Given the description of an element on the screen output the (x, y) to click on. 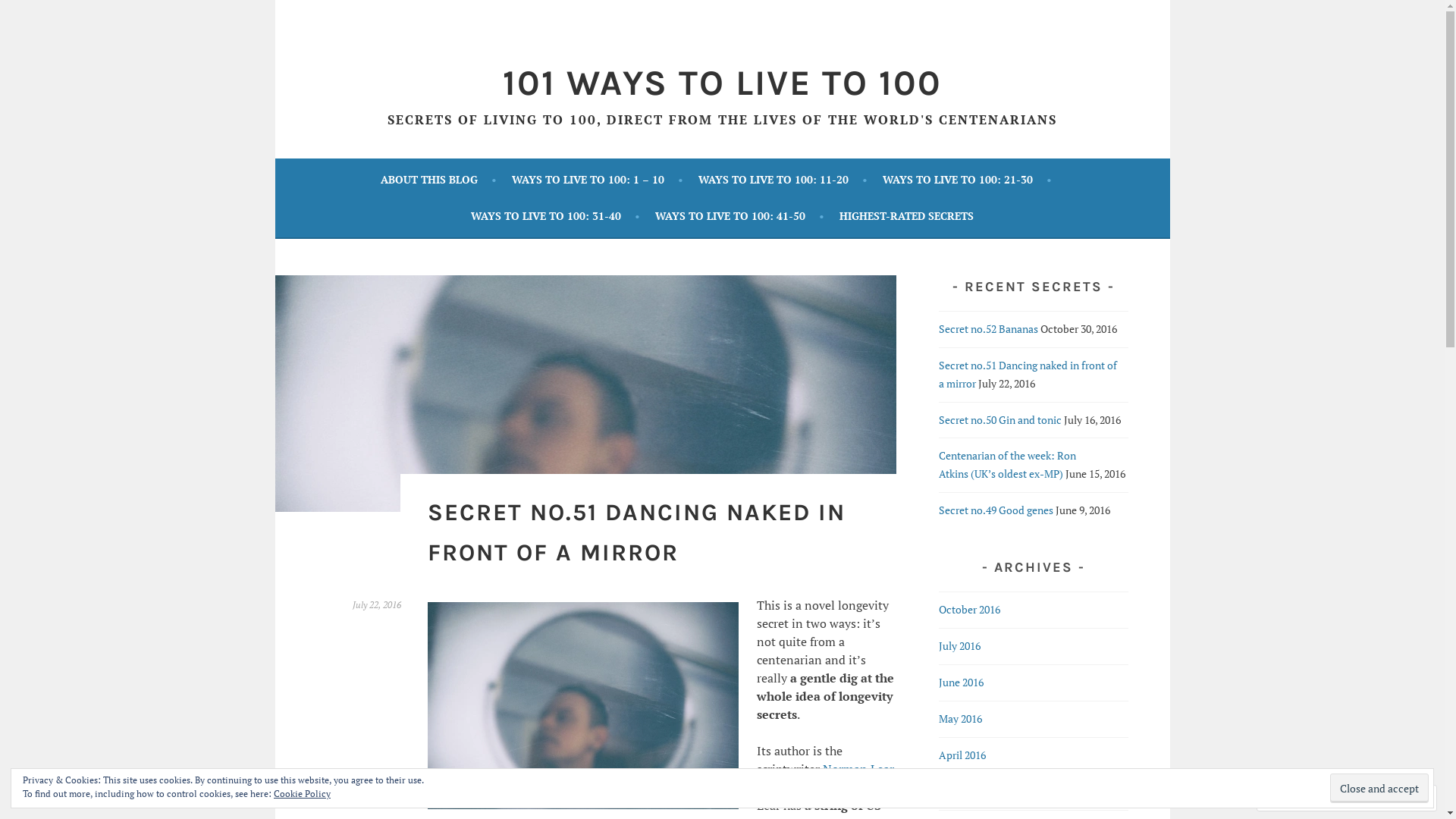
WAYS TO LIVE TO 100: 31-40 Element type: text (555, 216)
WAYS TO LIVE TO 100: 21-30 Element type: text (966, 179)
Secret no.49 Good genes Element type: text (995, 509)
101 WAYS TO LIVE TO 100 Element type: text (721, 82)
July 22, 2016 Element type: text (375, 604)
July 2016 Element type: text (959, 645)
Secret no.51 Dancing naked in front of a mirror Element type: text (1027, 373)
HIGHEST-RATED SECRETS Element type: text (906, 216)
October 2016 Element type: text (969, 609)
April 2016 Element type: text (961, 754)
WAYS TO LIVE TO 100: 41-50 Element type: text (739, 216)
June 2016 Element type: text (960, 681)
Cookie Policy Element type: text (301, 793)
March 2016 Element type: text (964, 791)
WAYS TO LIVE TO 100: 11-20 Element type: text (782, 179)
Close and accept Element type: text (1379, 788)
Secret no.50 Gin and tonic Element type: text (999, 419)
Secret no.52 Bananas Element type: text (988, 328)
Follow Element type: text (1373, 797)
Comment Element type: text (1297, 797)
ABOUT THIS BLOG Element type: text (438, 179)
May 2016 Element type: text (960, 718)
Norman Lear Element type: text (857, 768)
